Given the description of an element on the screen output the (x, y) to click on. 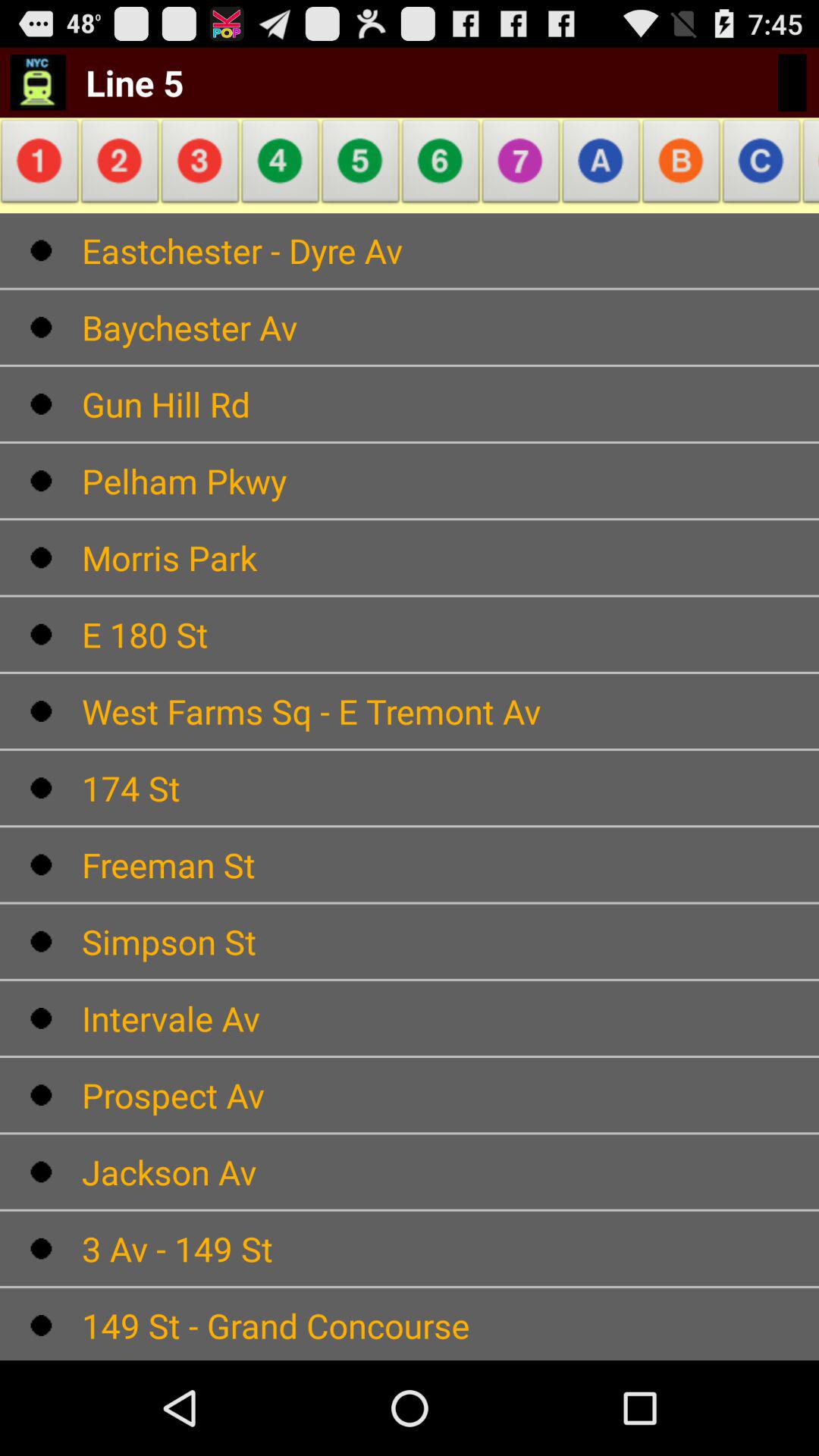
press the item below the line 5 (42, 165)
